Given the description of an element on the screen output the (x, y) to click on. 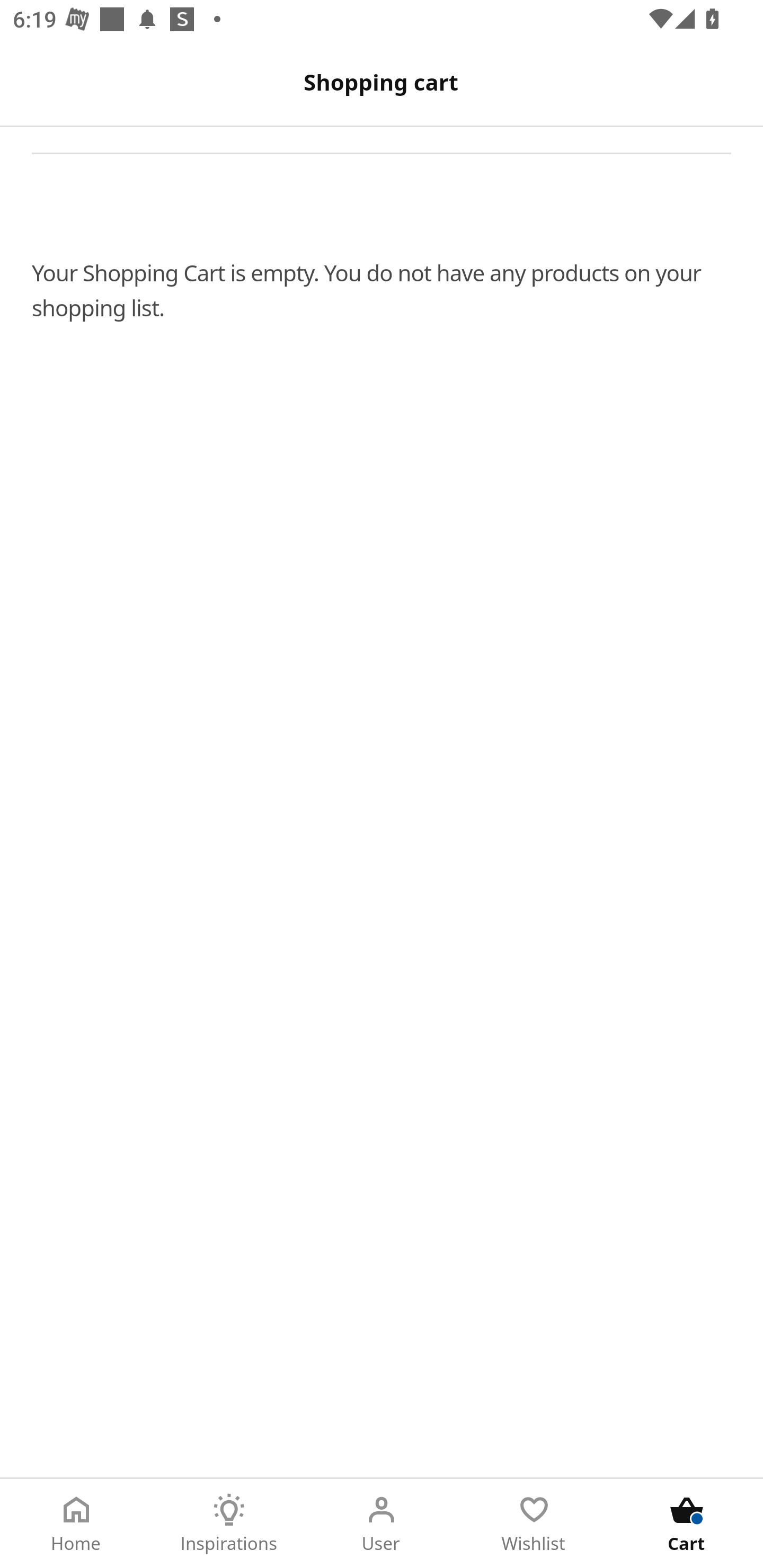
Home
Tab 1 of 5 (76, 1522)
Inspirations
Tab 2 of 5 (228, 1522)
User
Tab 3 of 5 (381, 1522)
Wishlist
Tab 4 of 5 (533, 1522)
Cart
Tab 5 of 5 (686, 1522)
